Given the description of an element on the screen output the (x, y) to click on. 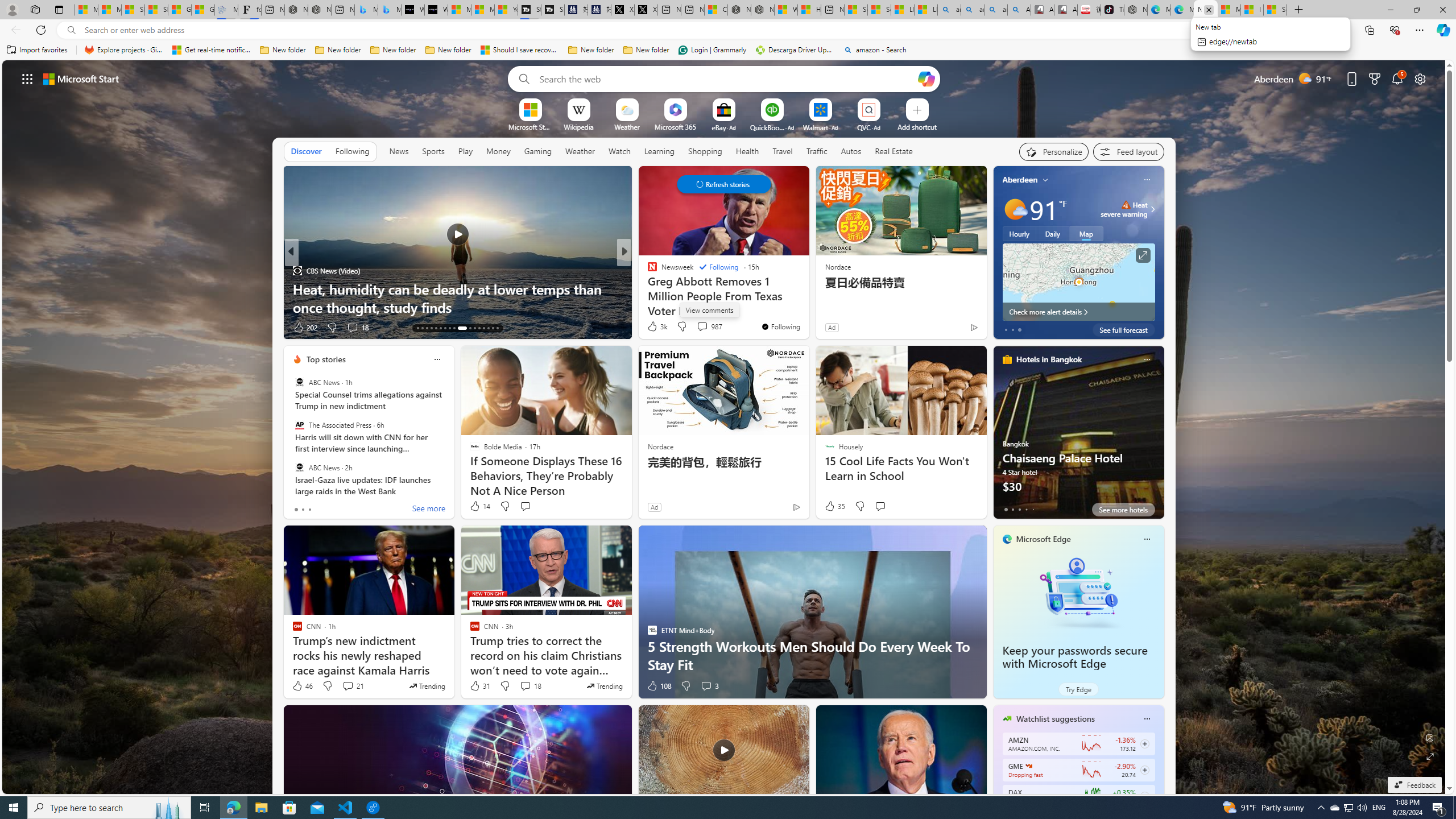
Don't Use an Ordinary Backpack (807, 307)
AutomationID: tab-20 (449, 328)
Heat - Severe Heat severe warning (1123, 208)
More options (1146, 718)
Search icon (70, 29)
AutomationID: tab-26 (483, 328)
69 Like (652, 327)
View comments 2 Comment (702, 327)
Microsoft Start Sports (529, 126)
Dislike (685, 685)
